Given the description of an element on the screen output the (x, y) to click on. 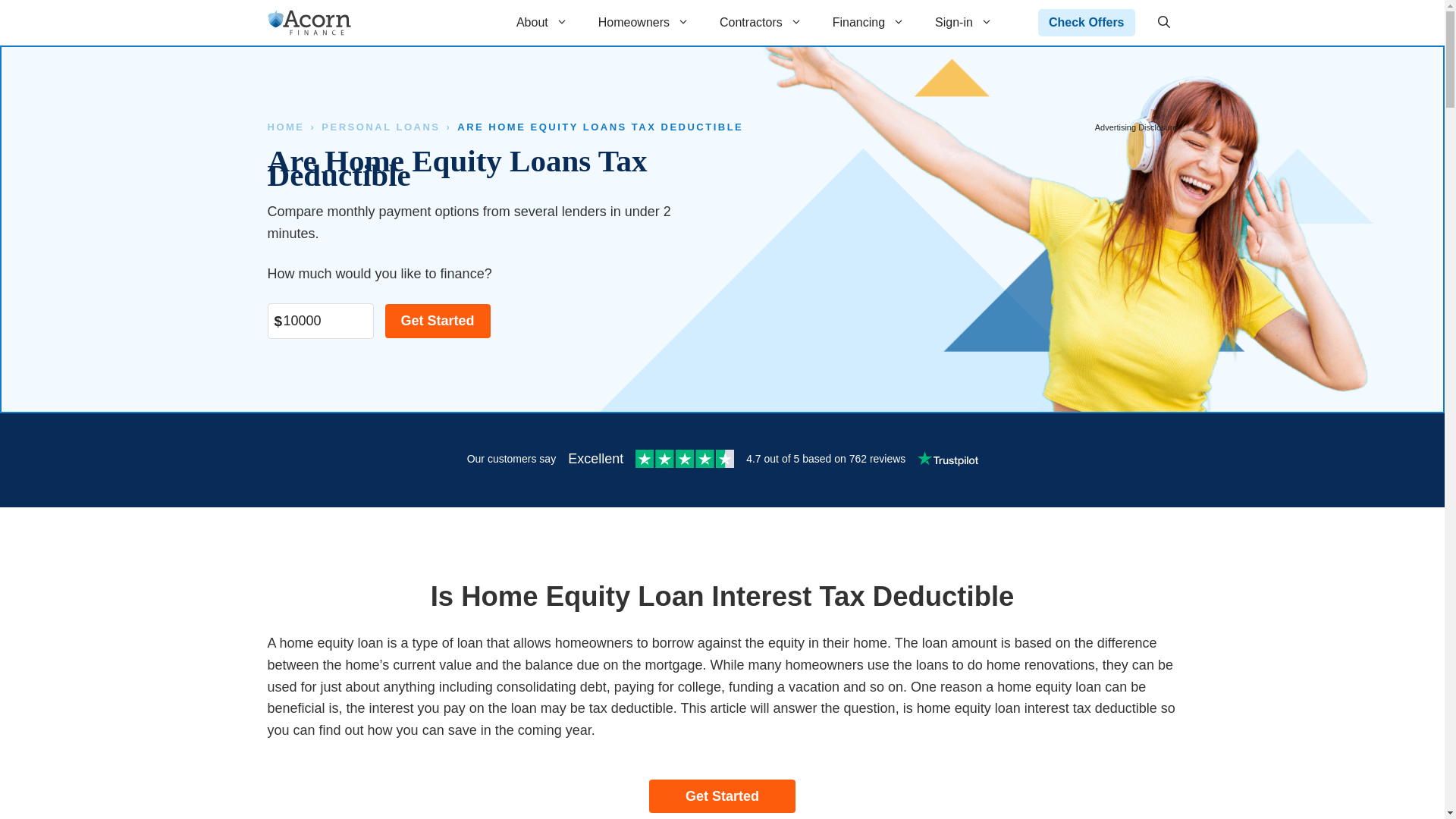
Homeowners (643, 22)
About (541, 22)
Get Started (437, 320)
10000 (319, 321)
Customer reviews powered by Trustpilot (721, 459)
